Given the description of an element on the screen output the (x, y) to click on. 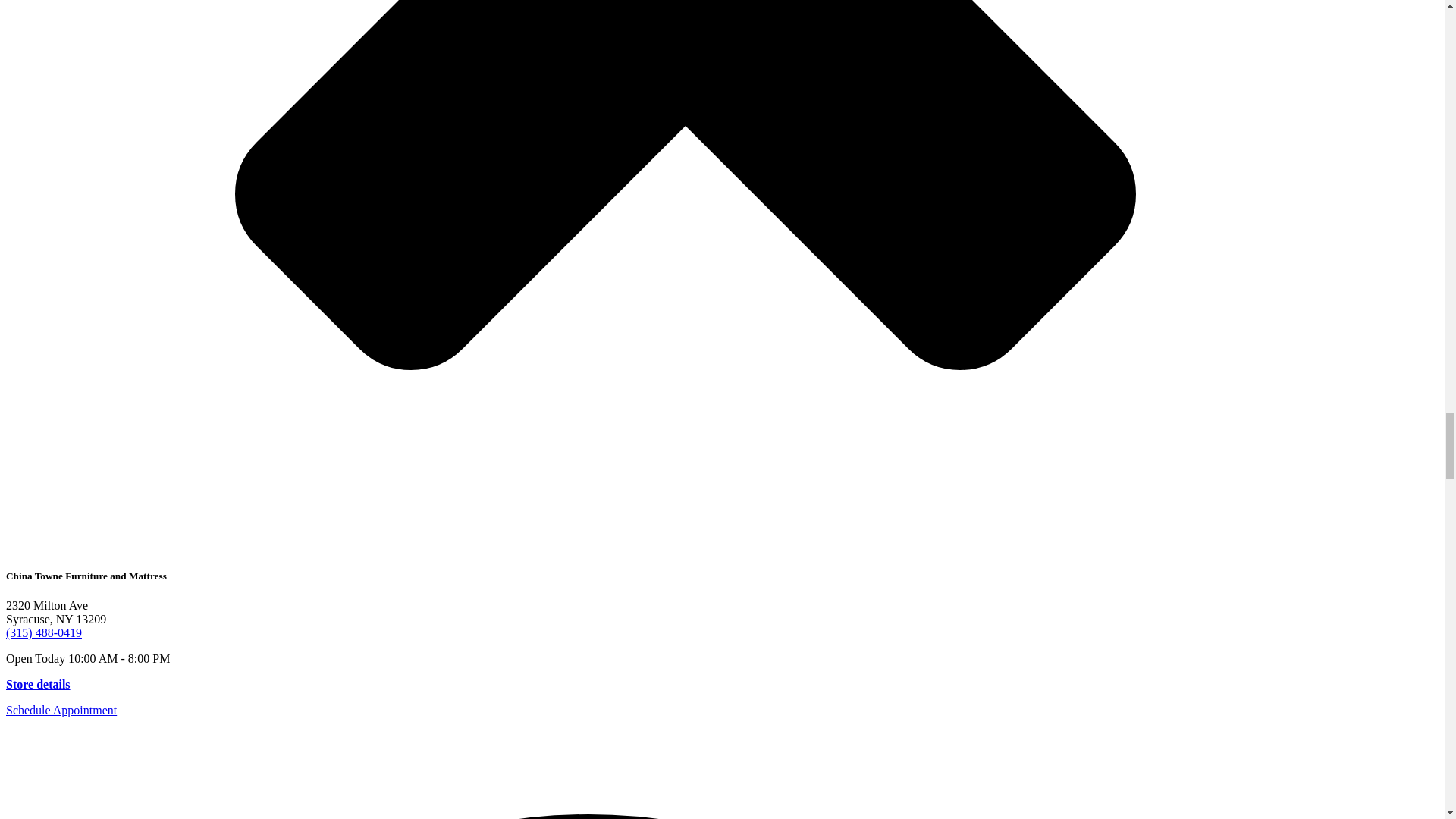
Schedule Appointment (60, 709)
Store details (37, 684)
